Given the description of an element on the screen output the (x, y) to click on. 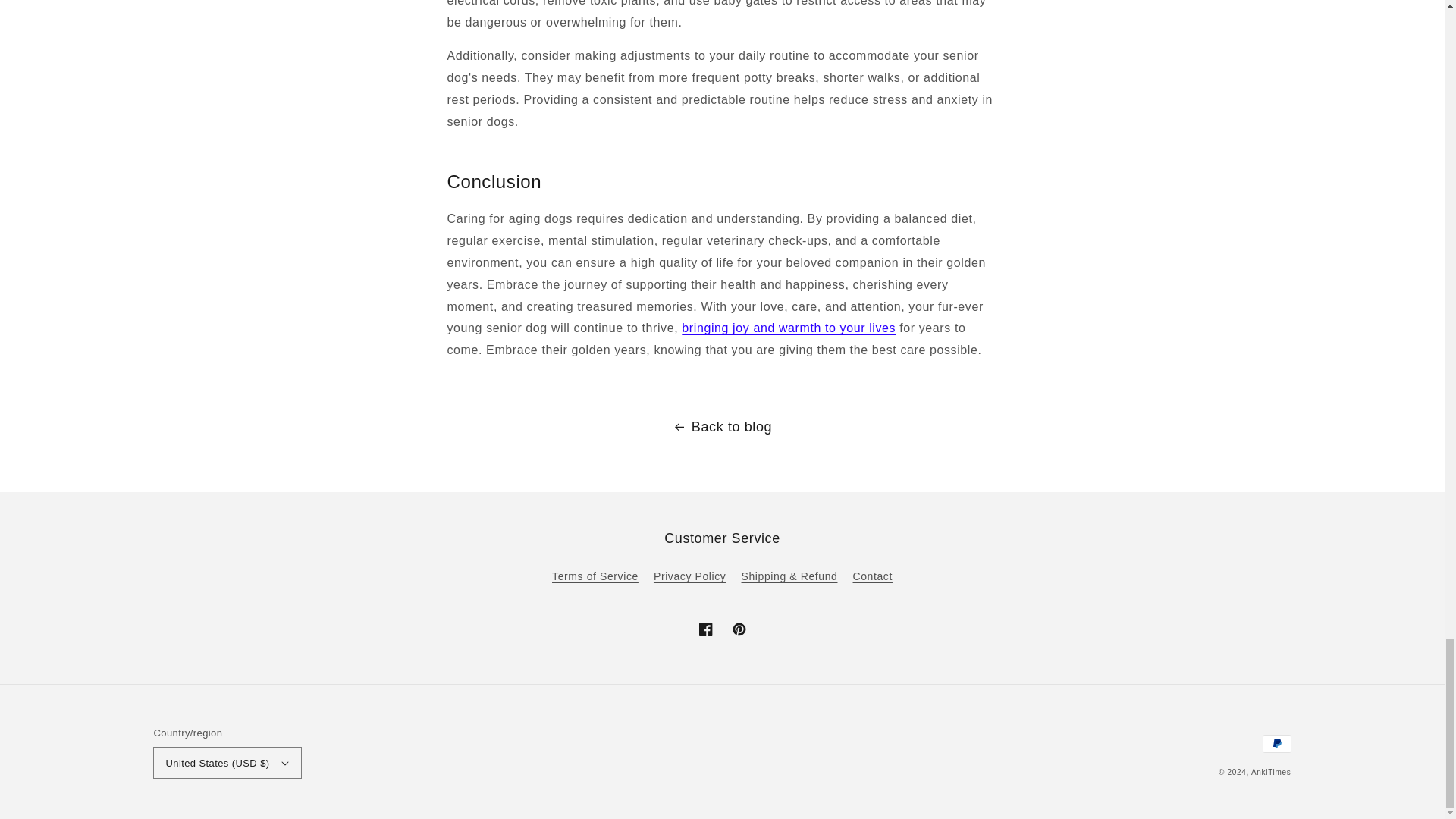
10 Reasons Why Being a Dog Owner is the Best Thing Ever (788, 327)
